Given the description of an element on the screen output the (x, y) to click on. 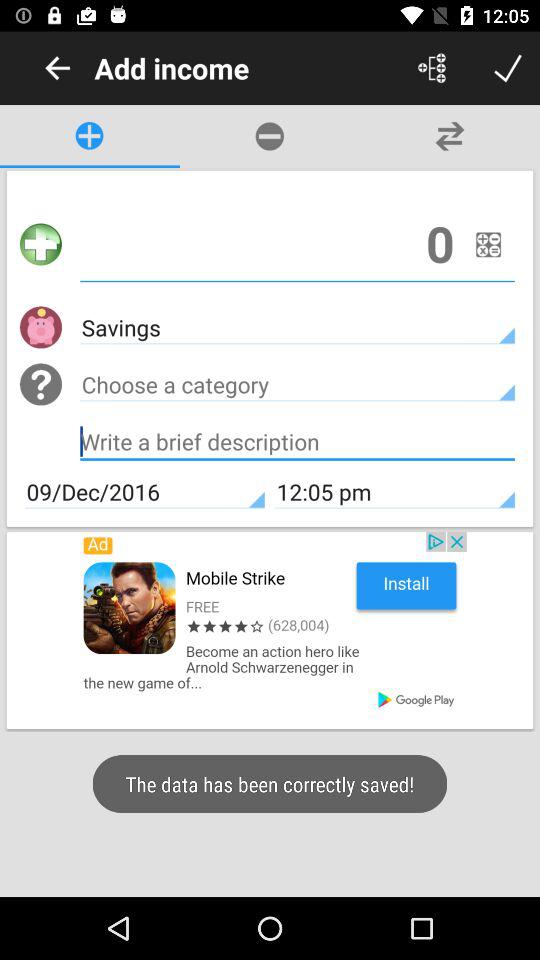
open the calculator (488, 244)
